Given the description of an element on the screen output the (x, y) to click on. 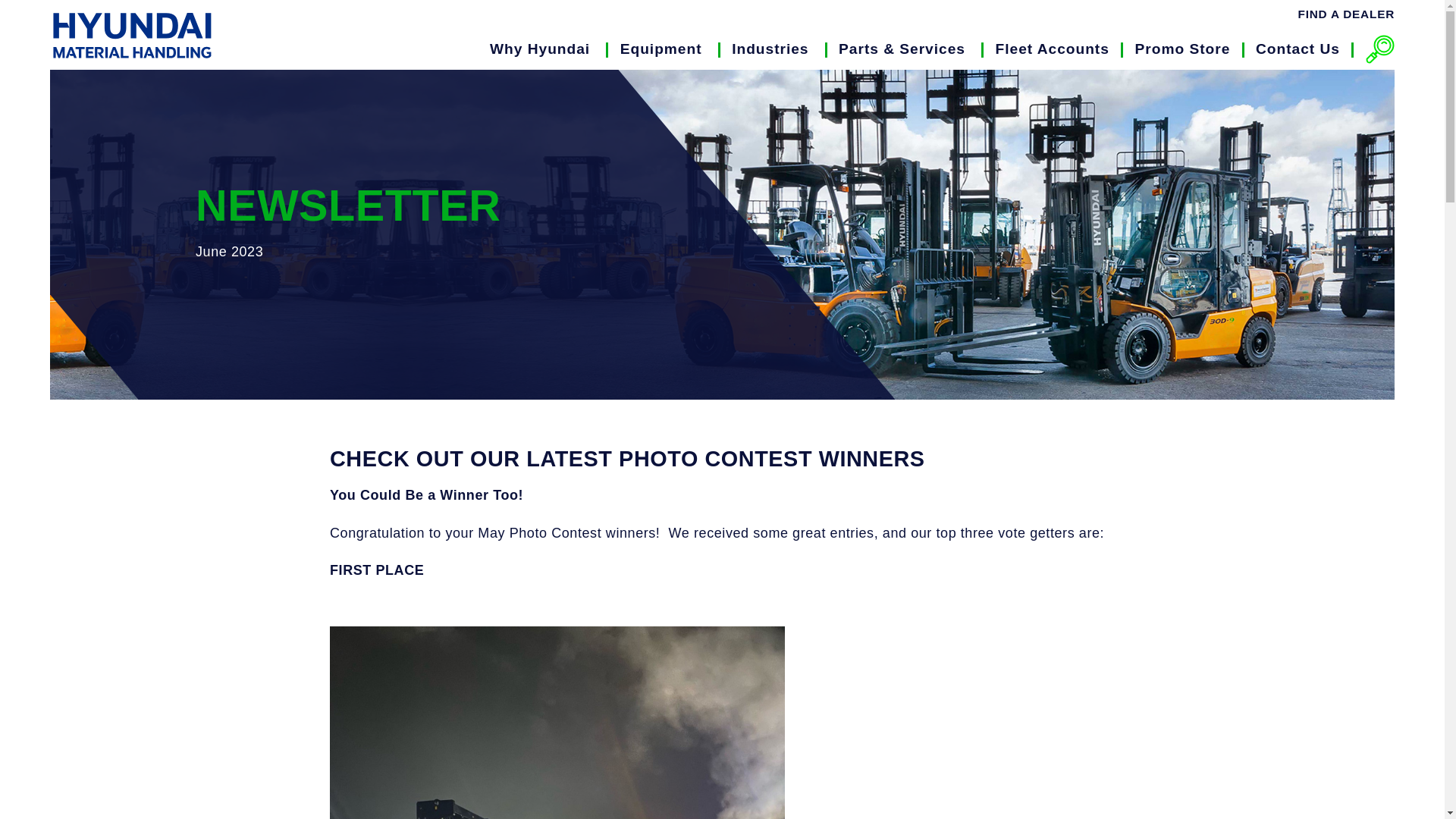
Promo Store (1181, 49)
Fleet Accounts (1052, 49)
Contact Us (1298, 49)
Equipment (660, 49)
FIND A DEALER (1339, 13)
Why Hyundai (540, 49)
Find a Dealer (1339, 13)
Industries (770, 49)
Equipment (660, 49)
Industries (770, 49)
Why Hyundai (540, 49)
